Given the description of an element on the screen output the (x, y) to click on. 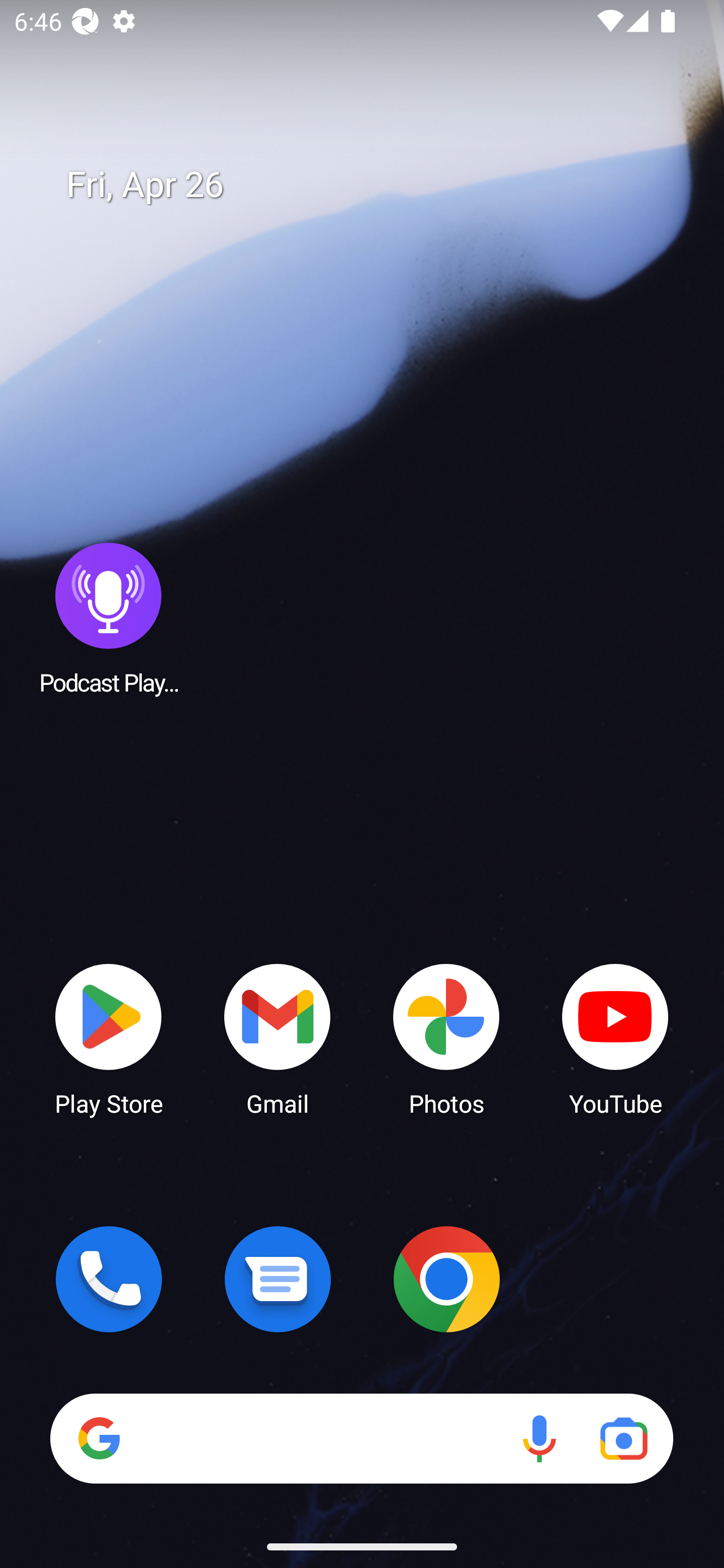
Fri, Apr 26 (375, 184)
Podcast Player (108, 617)
Play Store (108, 1038)
Gmail (277, 1038)
Photos (445, 1038)
YouTube (615, 1038)
Phone (108, 1279)
Messages (277, 1279)
Chrome (446, 1279)
Search Voice search Google Lens (361, 1438)
Voice search (539, 1438)
Google Lens (623, 1438)
